Given the description of an element on the screen output the (x, y) to click on. 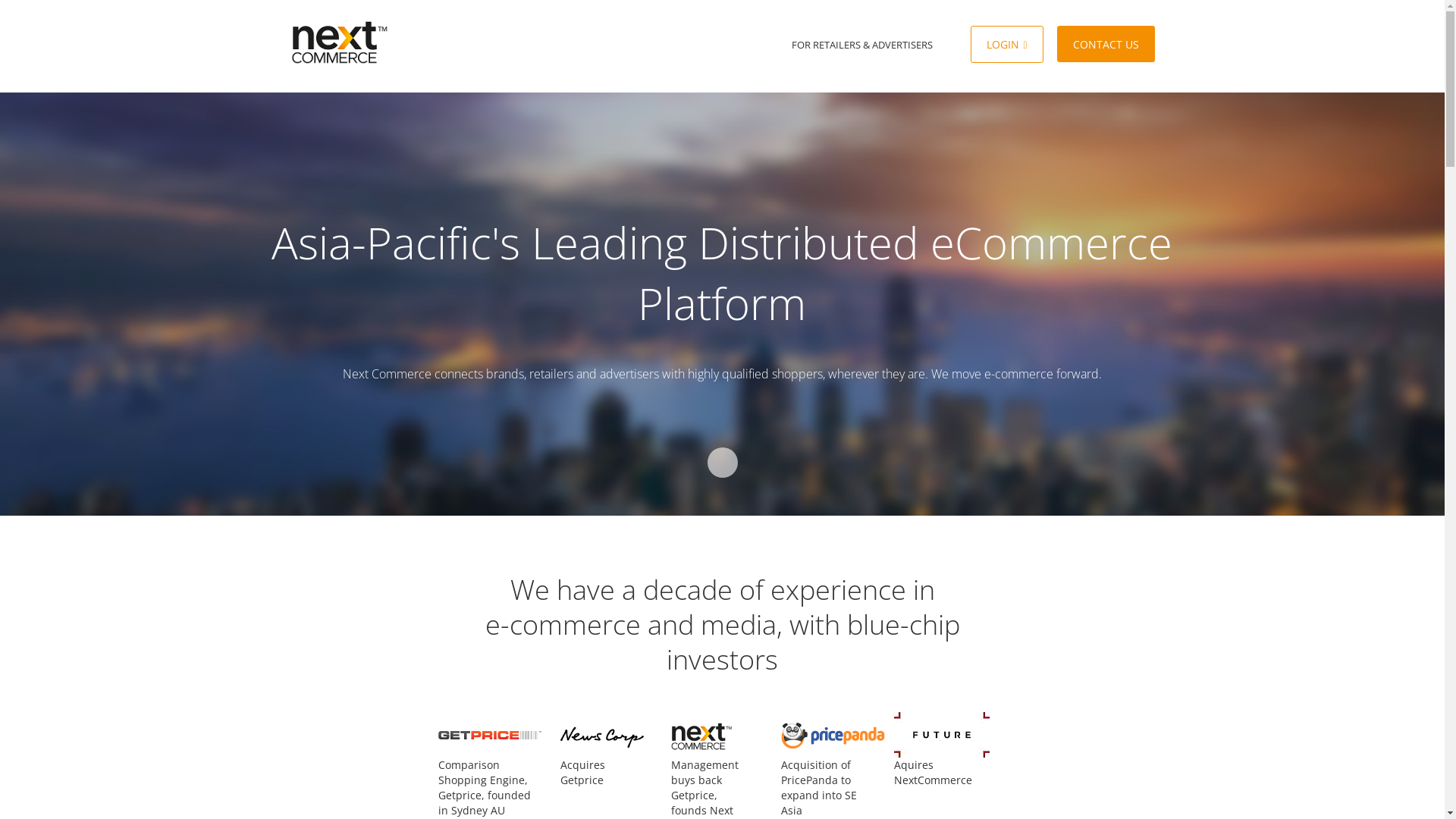
FOR RETAILERS & ADVERTISERS Element type: text (861, 44)
CONTACT US Element type: text (1105, 43)
